Given the description of an element on the screen output the (x, y) to click on. 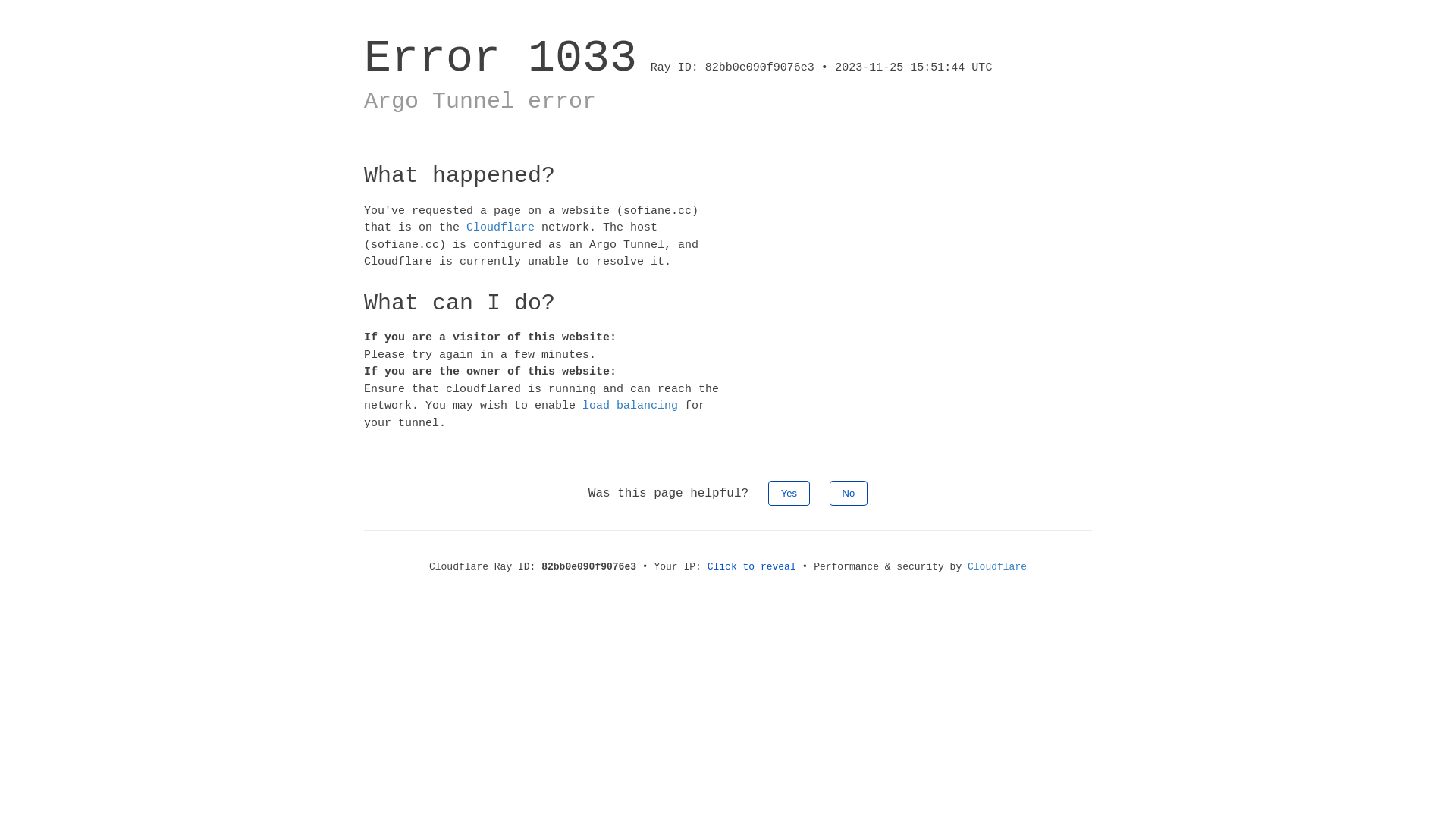
No Element type: text (848, 492)
Yes Element type: text (788, 492)
Click to reveal Element type: text (751, 566)
Cloudflare Element type: text (996, 566)
load balancing Element type: text (629, 405)
Cloudflare Element type: text (500, 227)
